Given the description of an element on the screen output the (x, y) to click on. 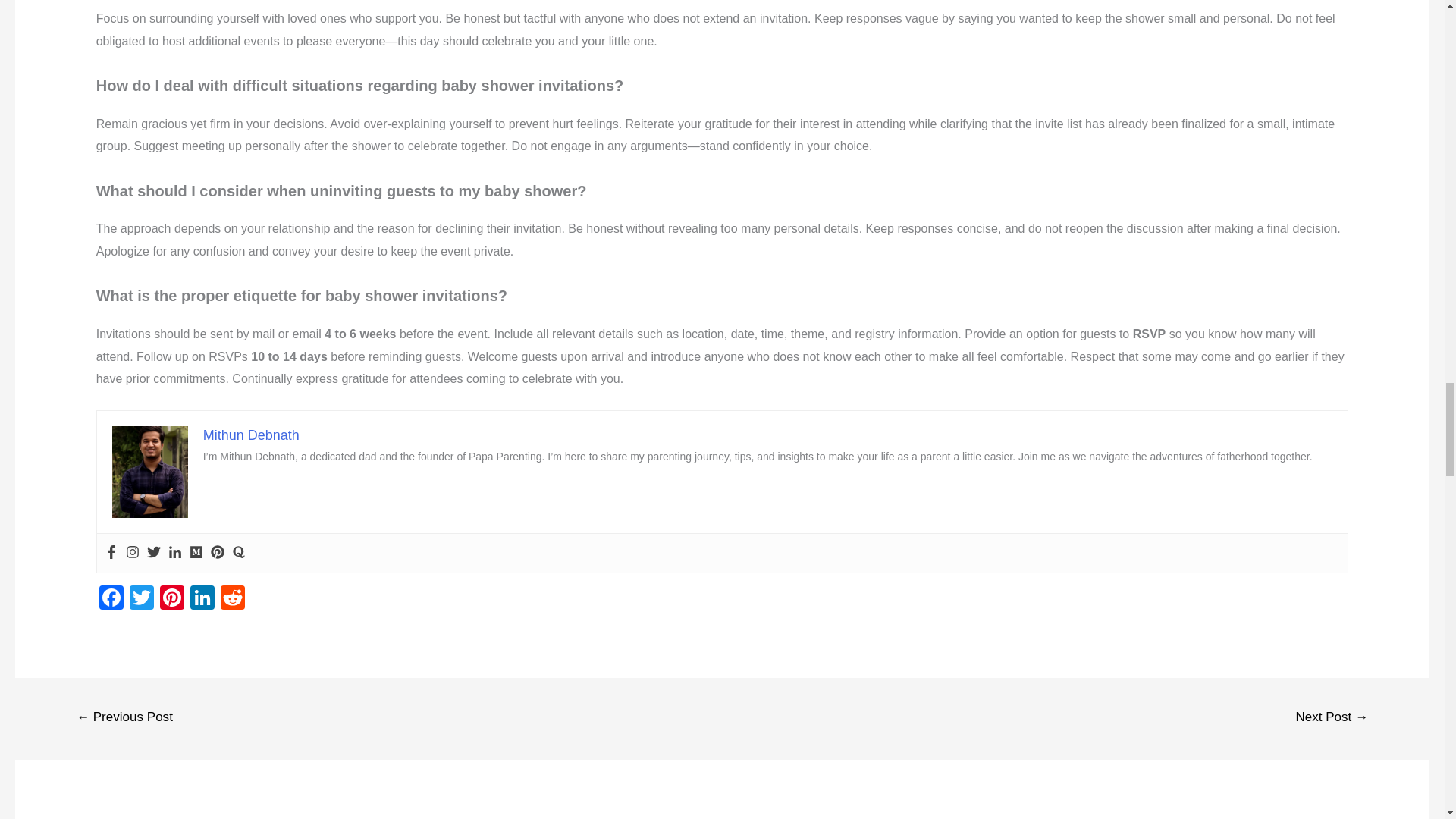
Mithun Debnath (251, 435)
Facebook (111, 599)
LinkedIn (201, 599)
Reddit (231, 599)
LinkedIn (201, 599)
Reddit (231, 599)
Twitter (141, 599)
Facebook (111, 599)
Twitter (141, 599)
Pinterest (172, 599)
